Given the description of an element on the screen output the (x, y) to click on. 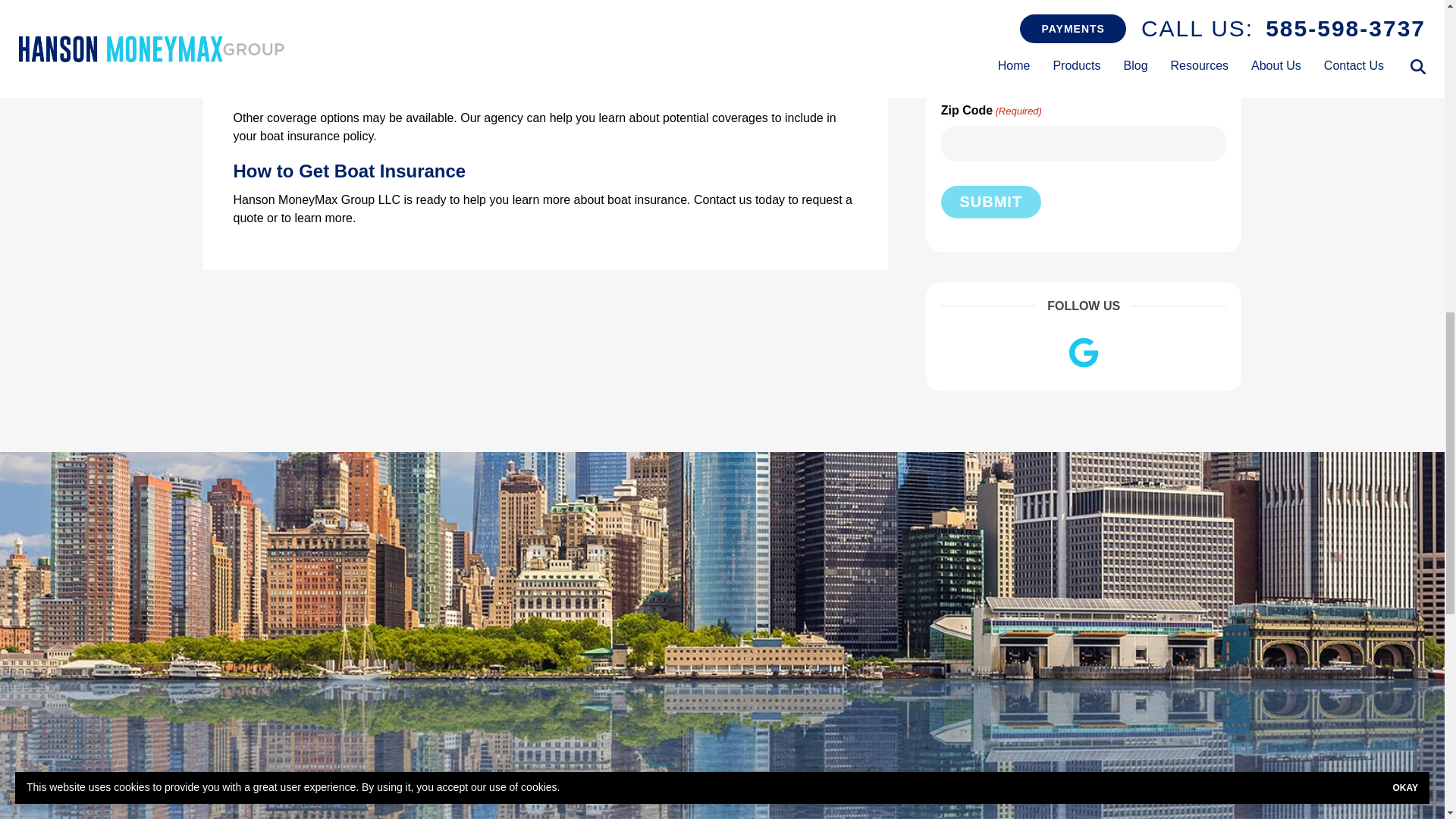
Submit (990, 201)
